Given the description of an element on the screen output the (x, y) to click on. 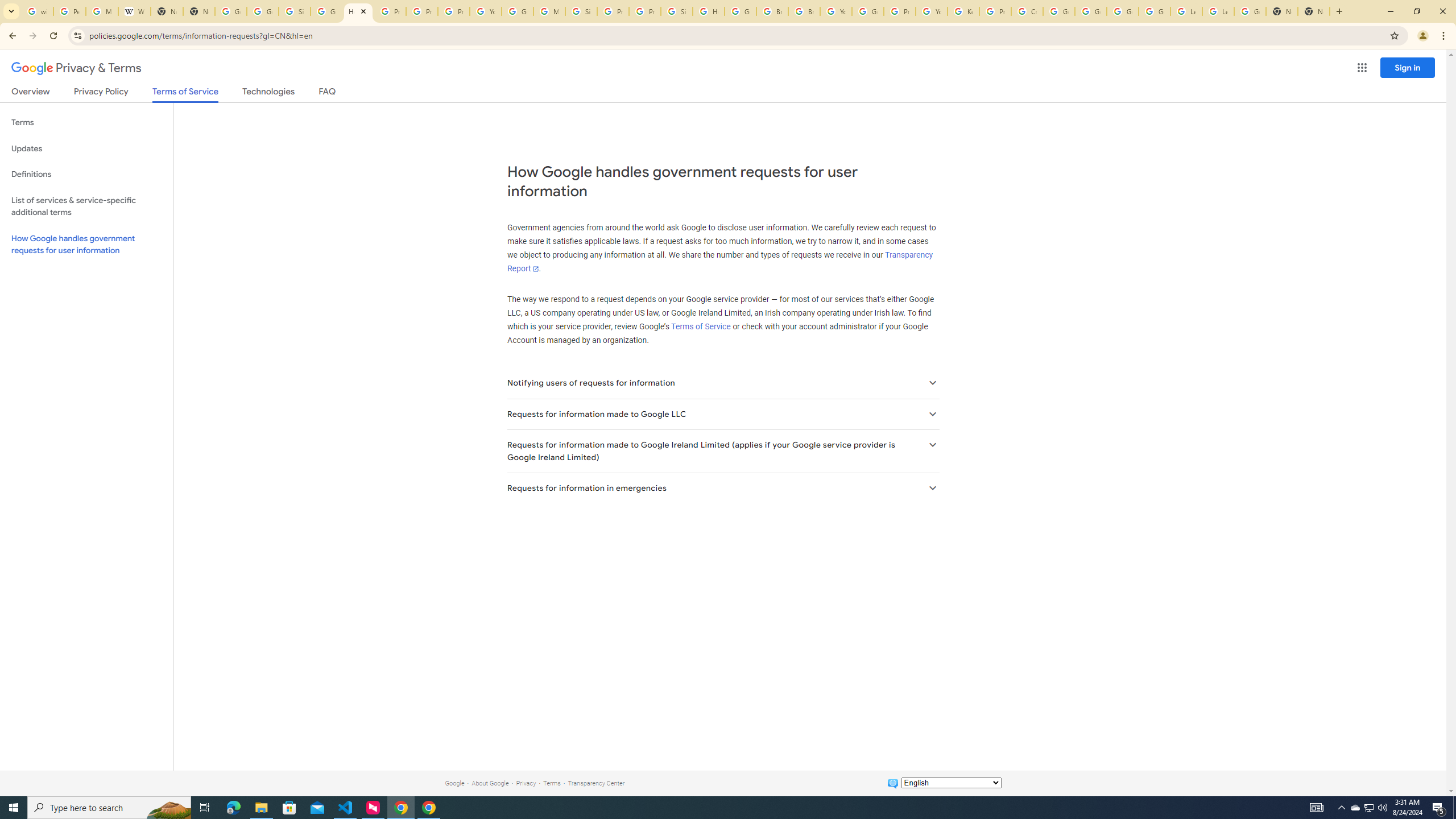
New Tab (1313, 11)
Notifying users of requests for information (722, 382)
Requests for information made to Google LLC (722, 413)
Requests for information in emergencies (722, 488)
Google Account Help (1154, 11)
List of services & service-specific additional terms (86, 206)
Sign in - Google Accounts (581, 11)
